Given the description of an element on the screen output the (x, y) to click on. 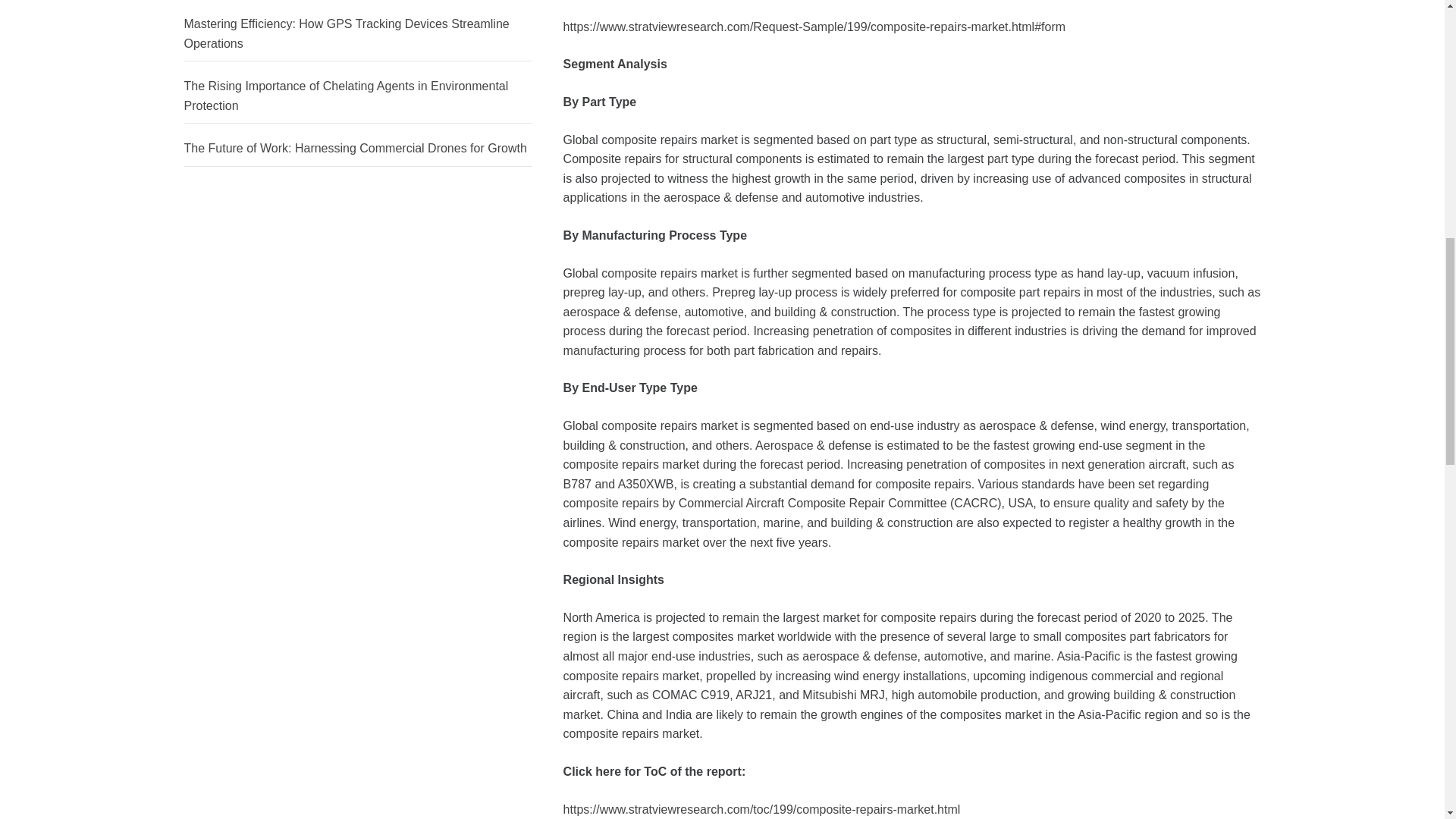
The Future of Work: Harnessing Commercial Drones for Growth (357, 149)
